Given the description of an element on the screen output the (x, y) to click on. 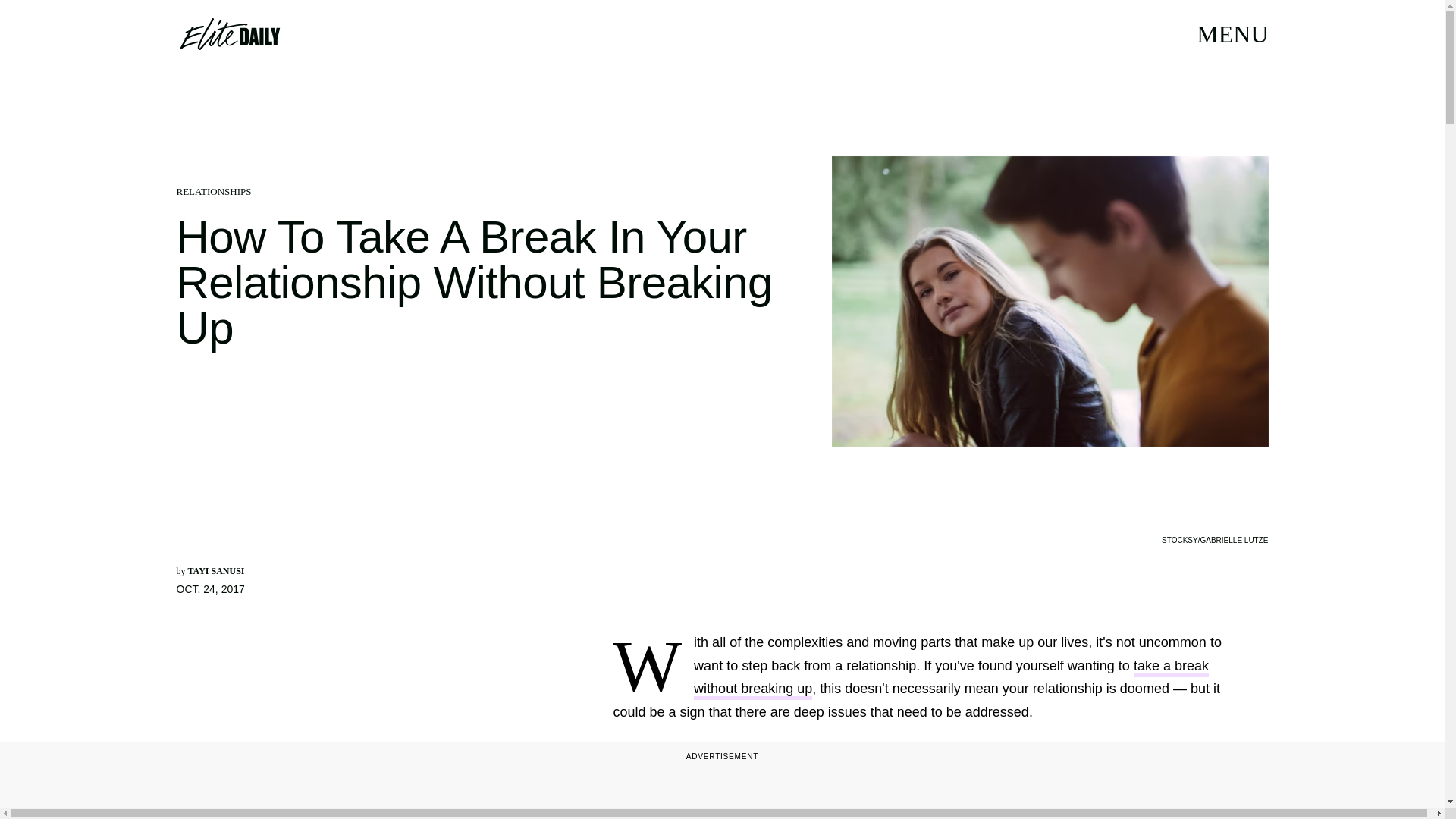
TAYI SANUSI (215, 570)
Elite Daily (229, 33)
take a break without breaking up (951, 679)
